Given the description of an element on the screen output the (x, y) to click on. 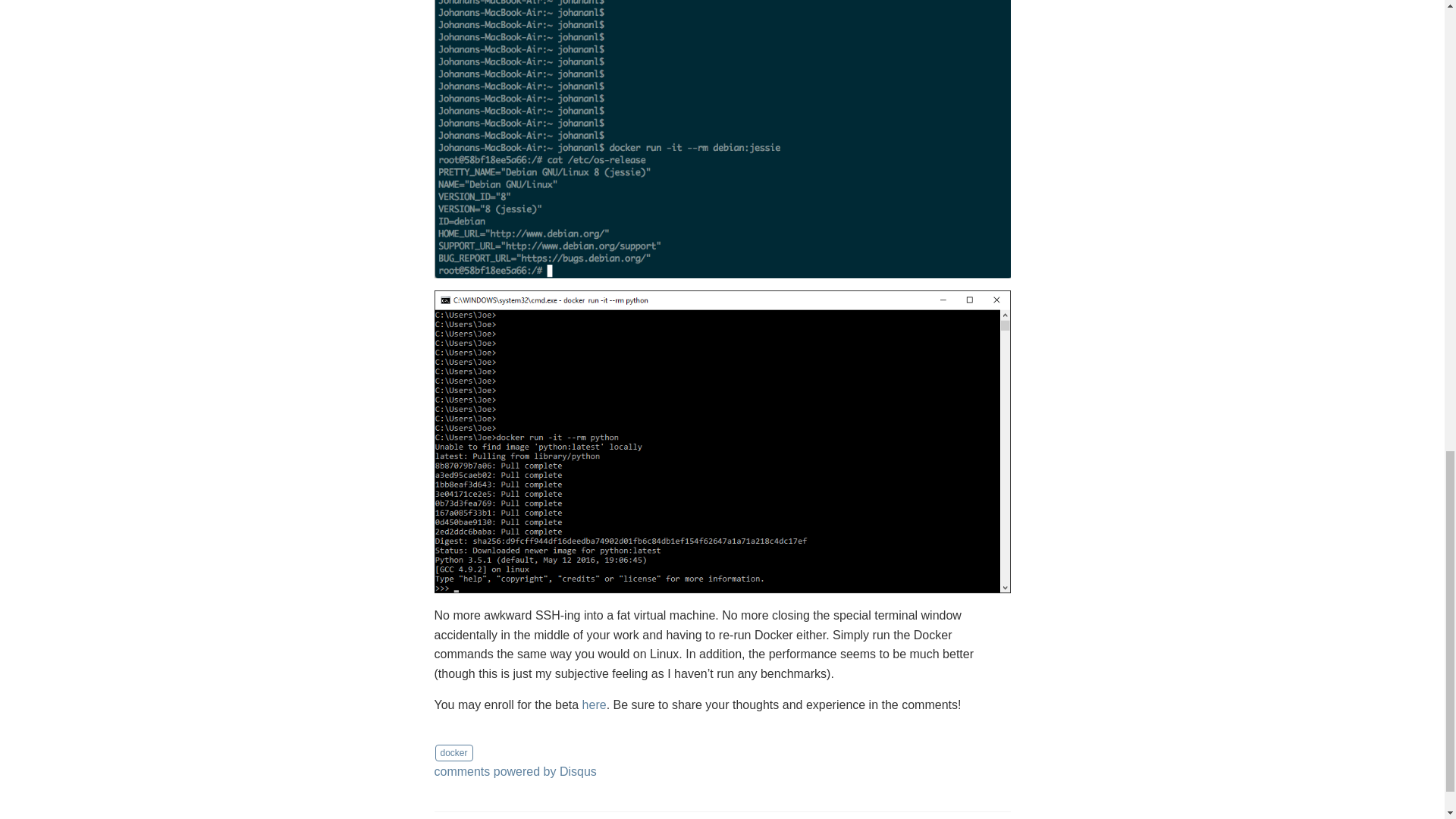
docker (454, 752)
here (594, 704)
comments powered by Disqus (514, 771)
